Given the description of an element on the screen output the (x, y) to click on. 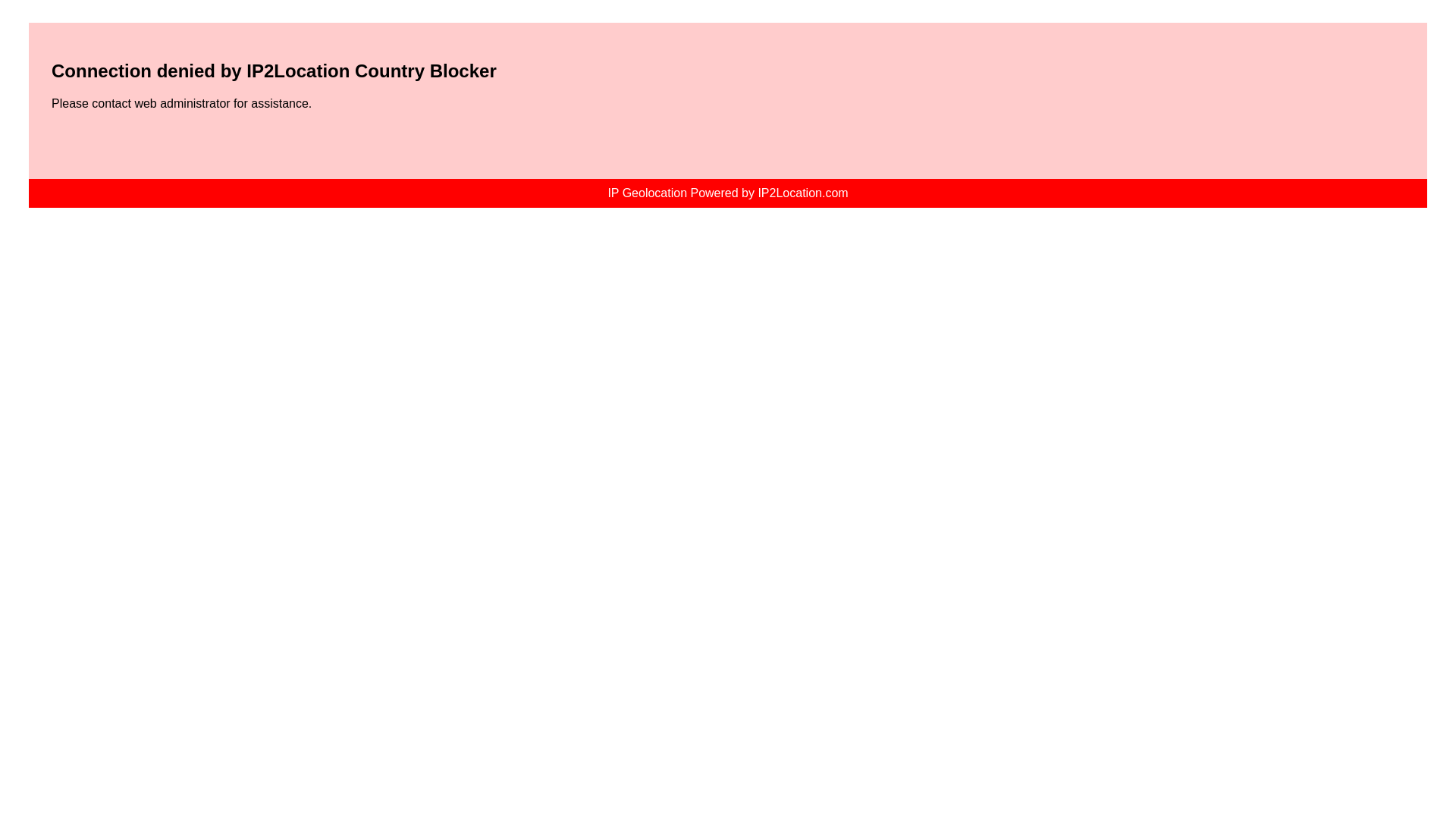
IP Geolocation Powered by IP2Location.com (727, 192)
